Given the description of an element on the screen output the (x, y) to click on. 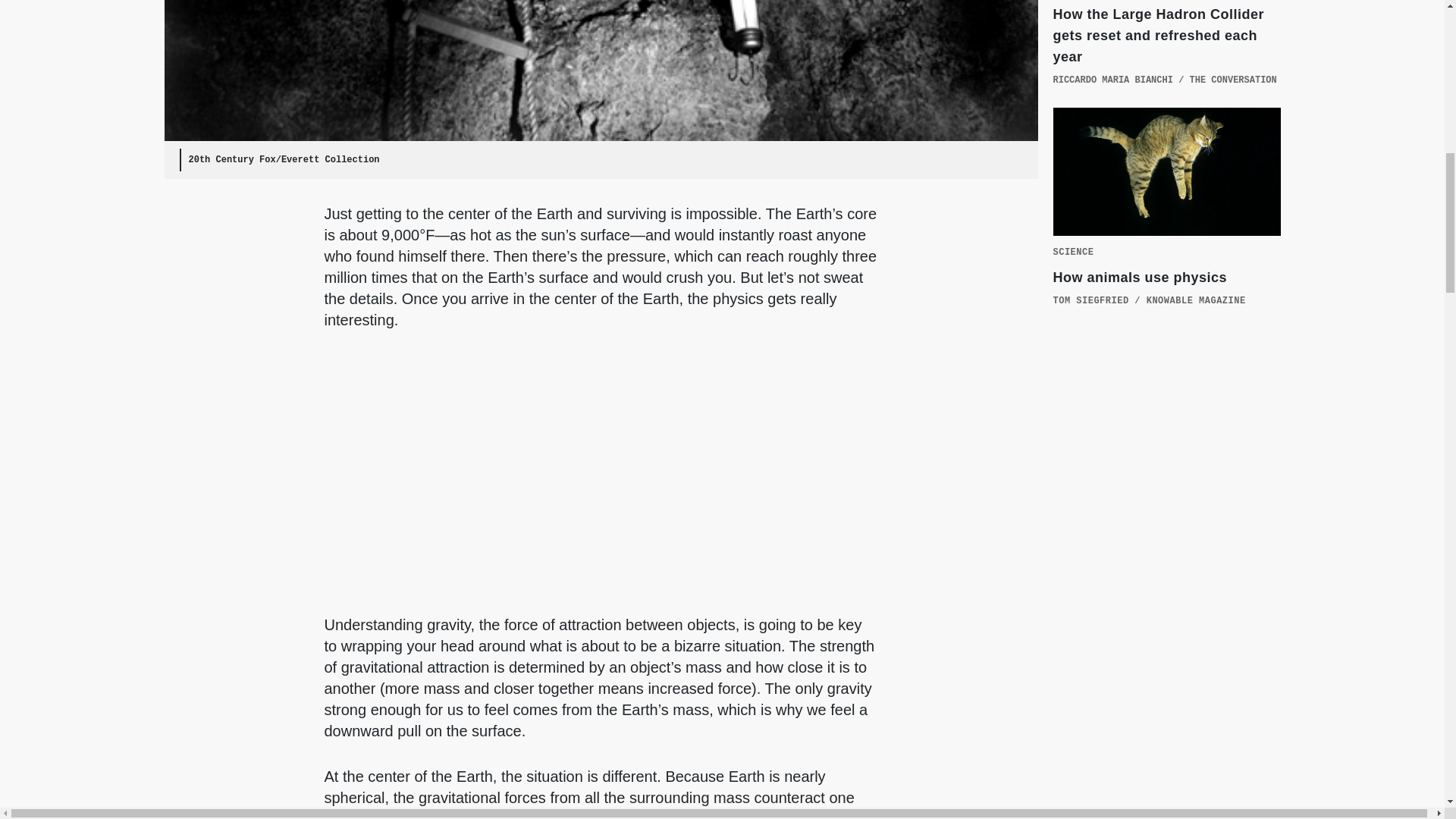
3rd party ad content (1165, 465)
